Given the description of an element on the screen output the (x, y) to click on. 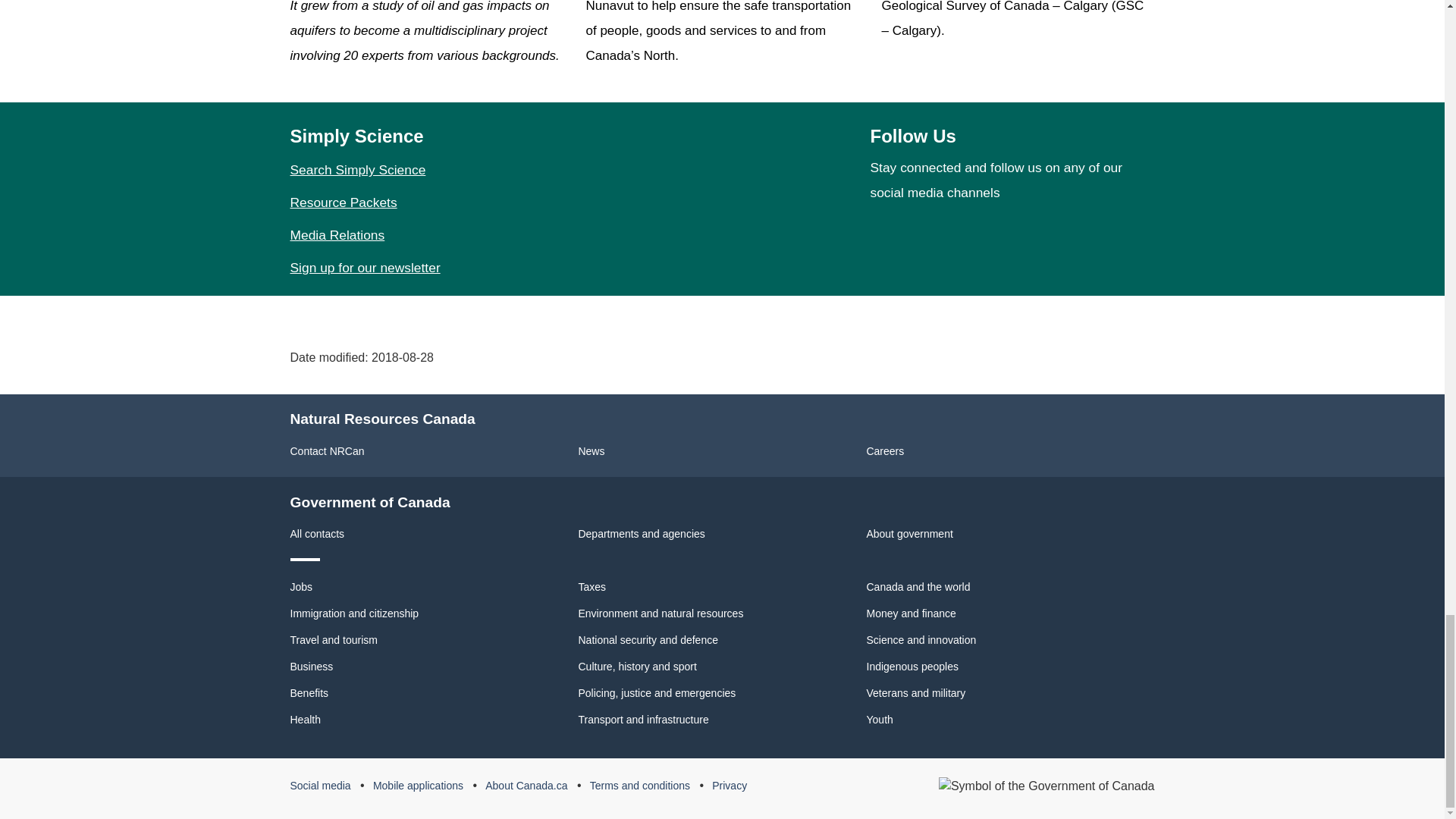
Search Simply Science (357, 169)
Sign up for our newsletter (364, 267)
Resource Packets (342, 201)
Media Relations (336, 234)
